Given the description of an element on the screen output the (x, y) to click on. 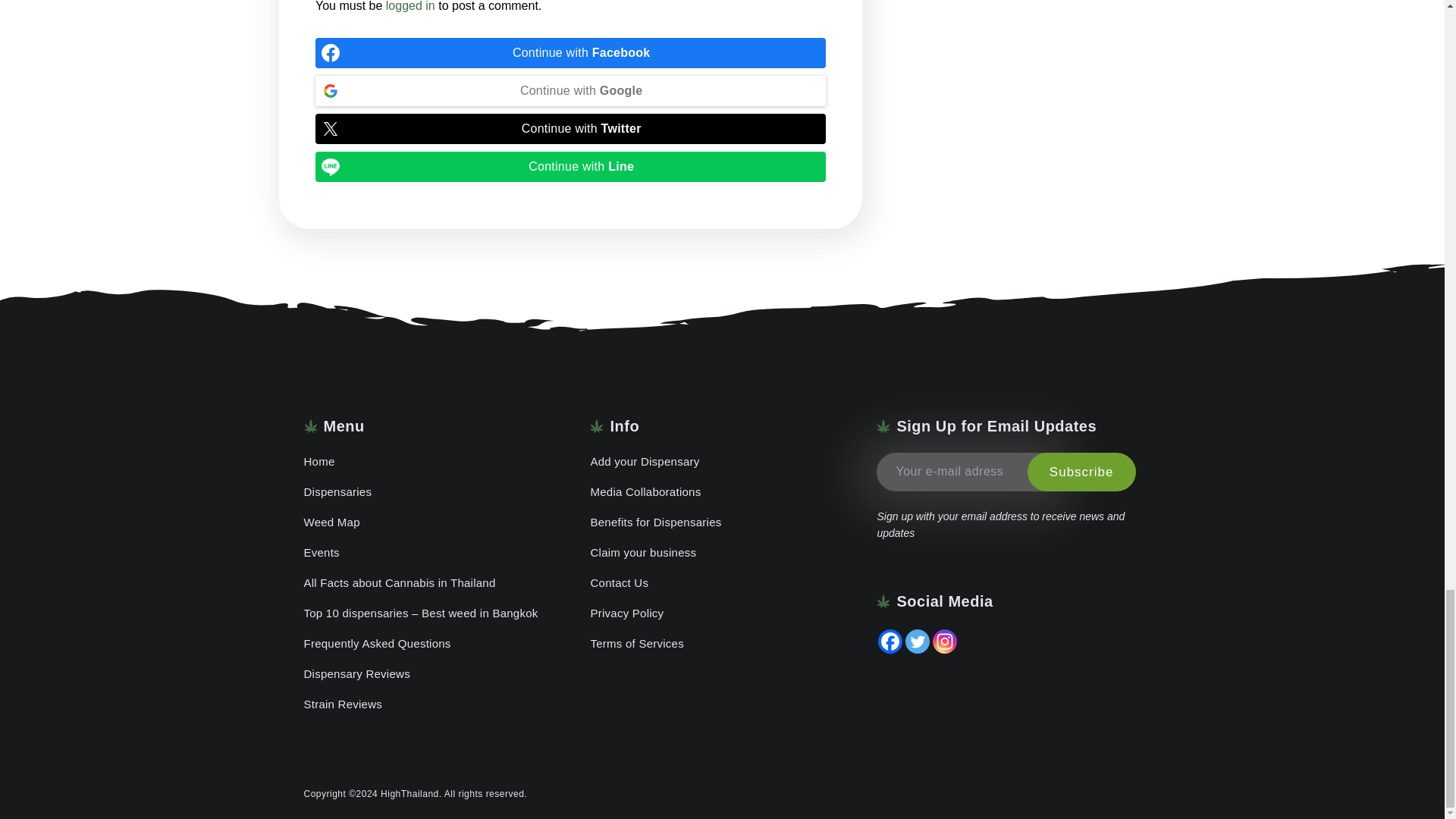
Subscribe (1081, 471)
Facebook (889, 641)
Instagram (944, 641)
Twitter (917, 641)
